Given the description of an element on the screen output the (x, y) to click on. 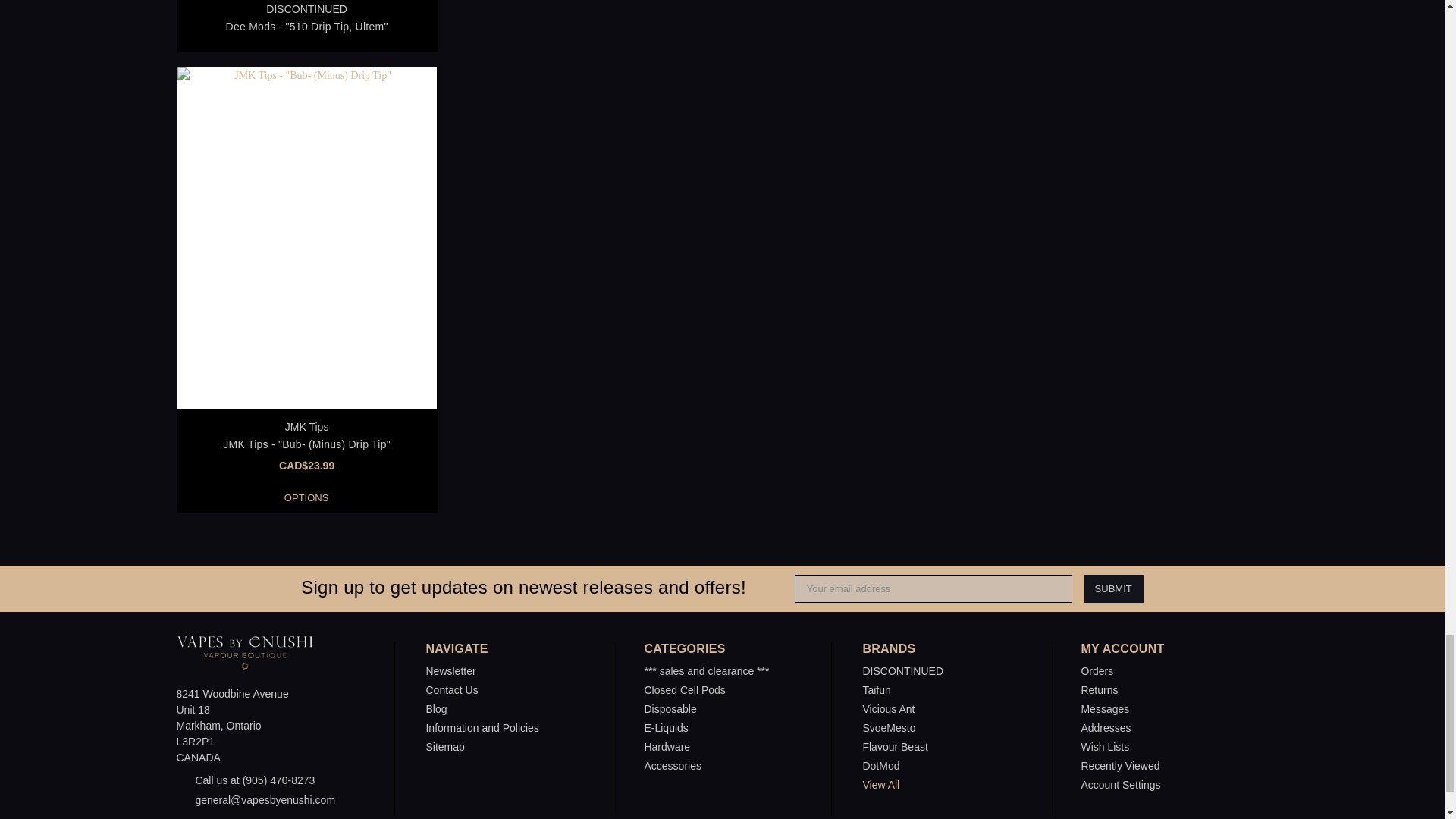
Submit (1112, 588)
